Given the description of an element on the screen output the (x, y) to click on. 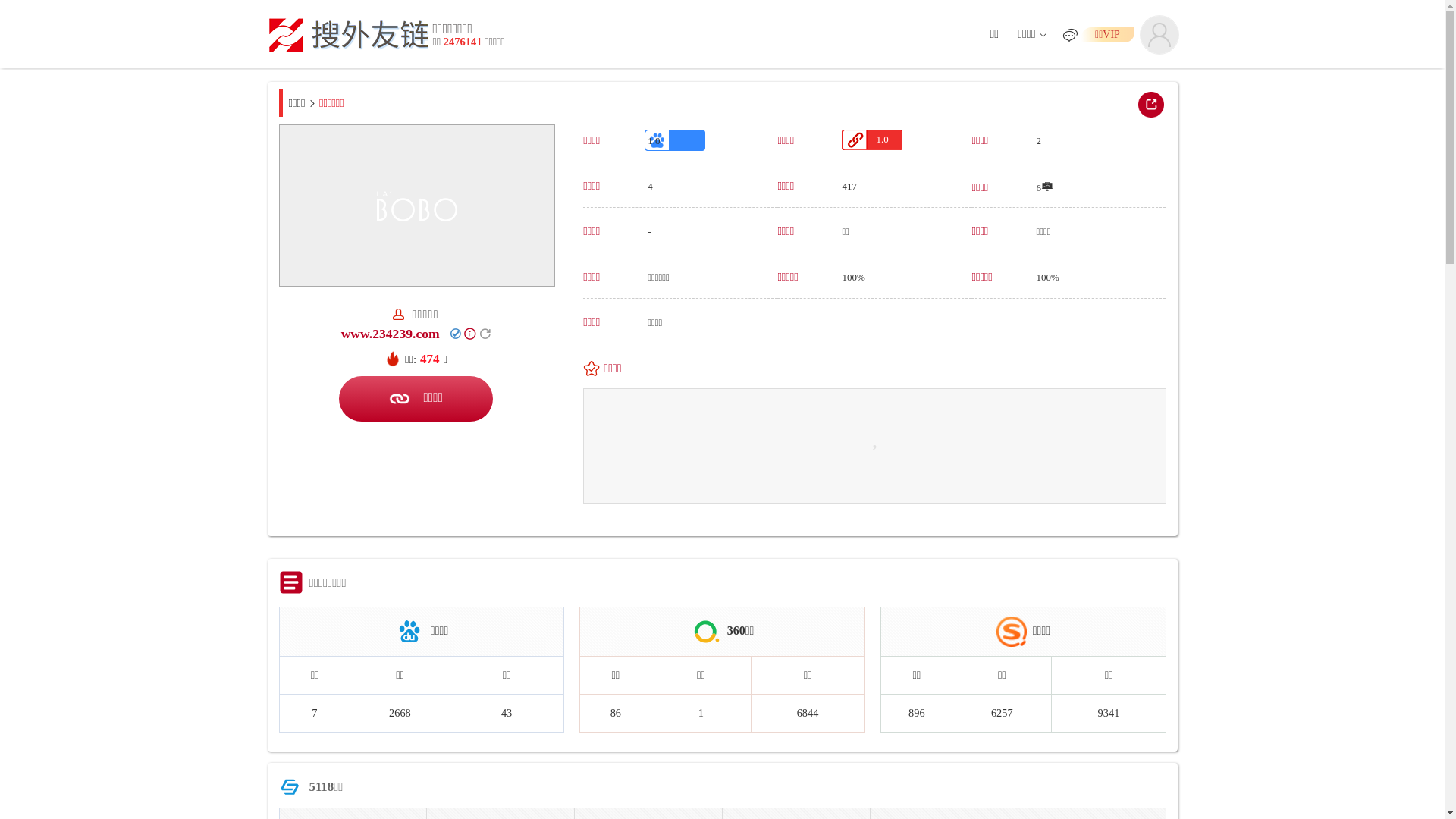
www.234239.com Element type: text (390, 333)
